Given the description of an element on the screen output the (x, y) to click on. 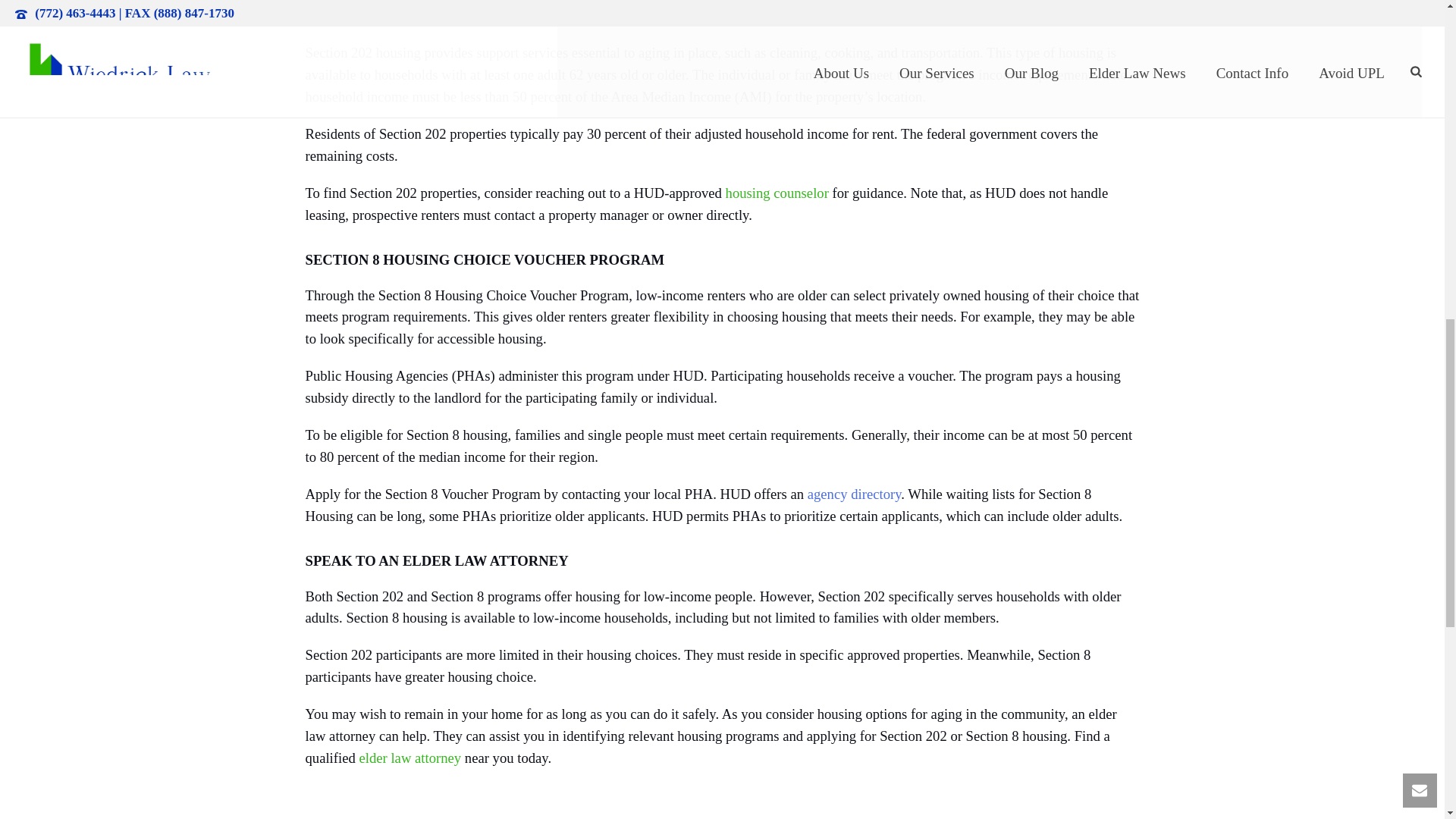
elder law attorney (409, 757)
housing counselor (776, 192)
agency directory (854, 494)
